Given the description of an element on the screen output the (x, y) to click on. 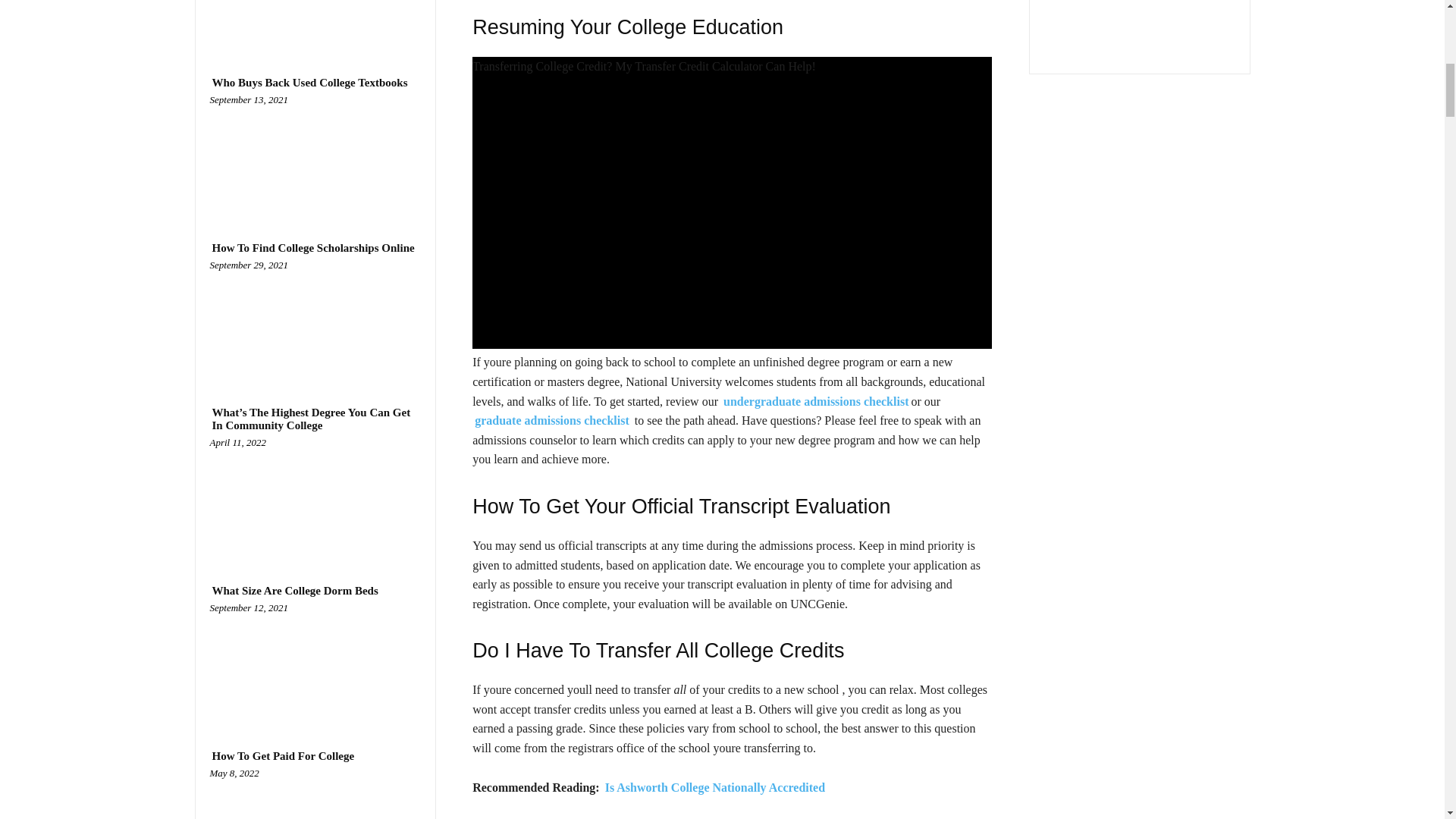
Who Buys Back Used College Textbooks (314, 155)
How To Join Air Force After College (314, 21)
Who Buys Back Used College Textbooks (309, 82)
